Given the description of an element on the screen output the (x, y) to click on. 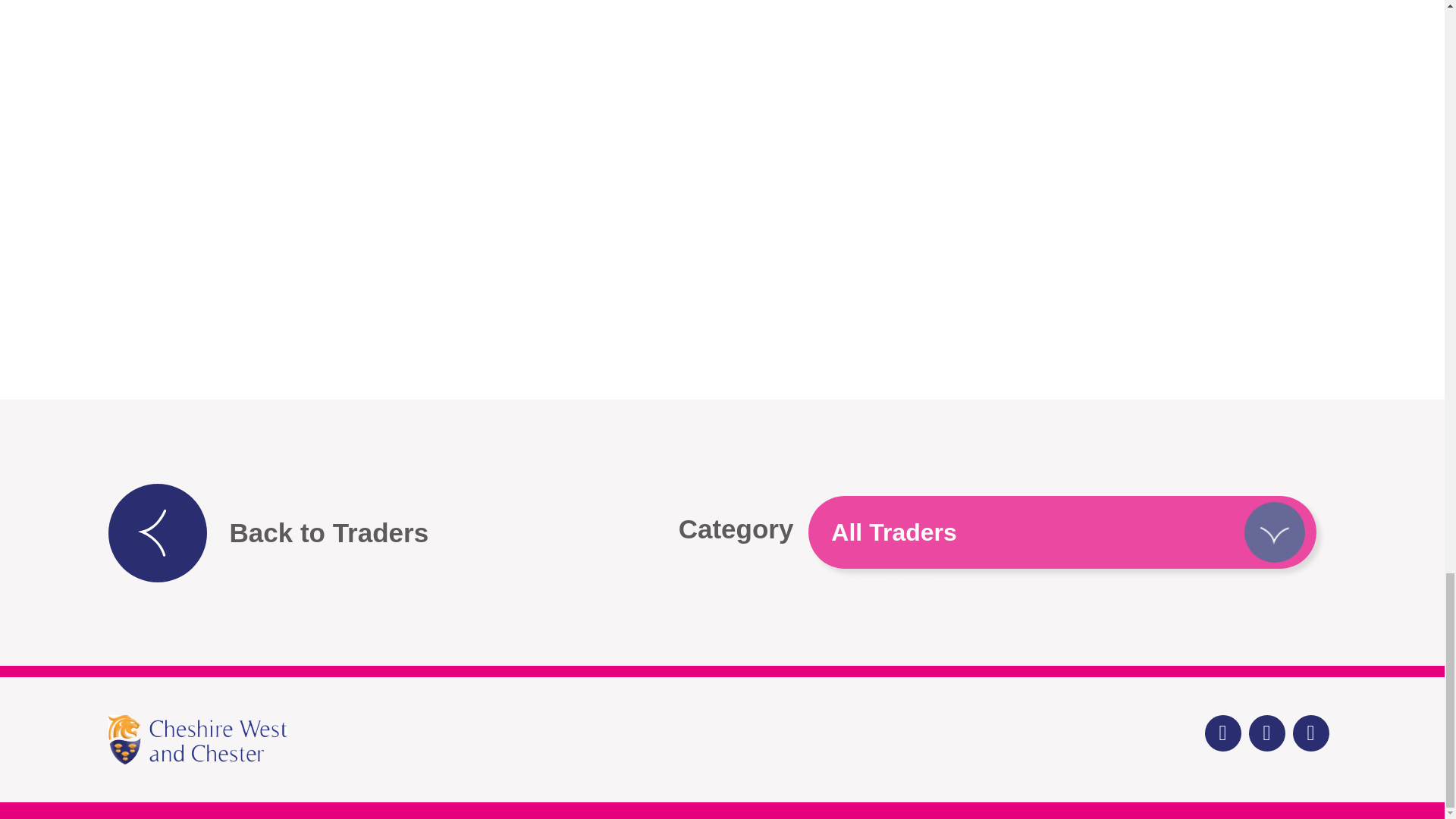
Back to Traders (267, 531)
